Given the description of an element on the screen output the (x, y) to click on. 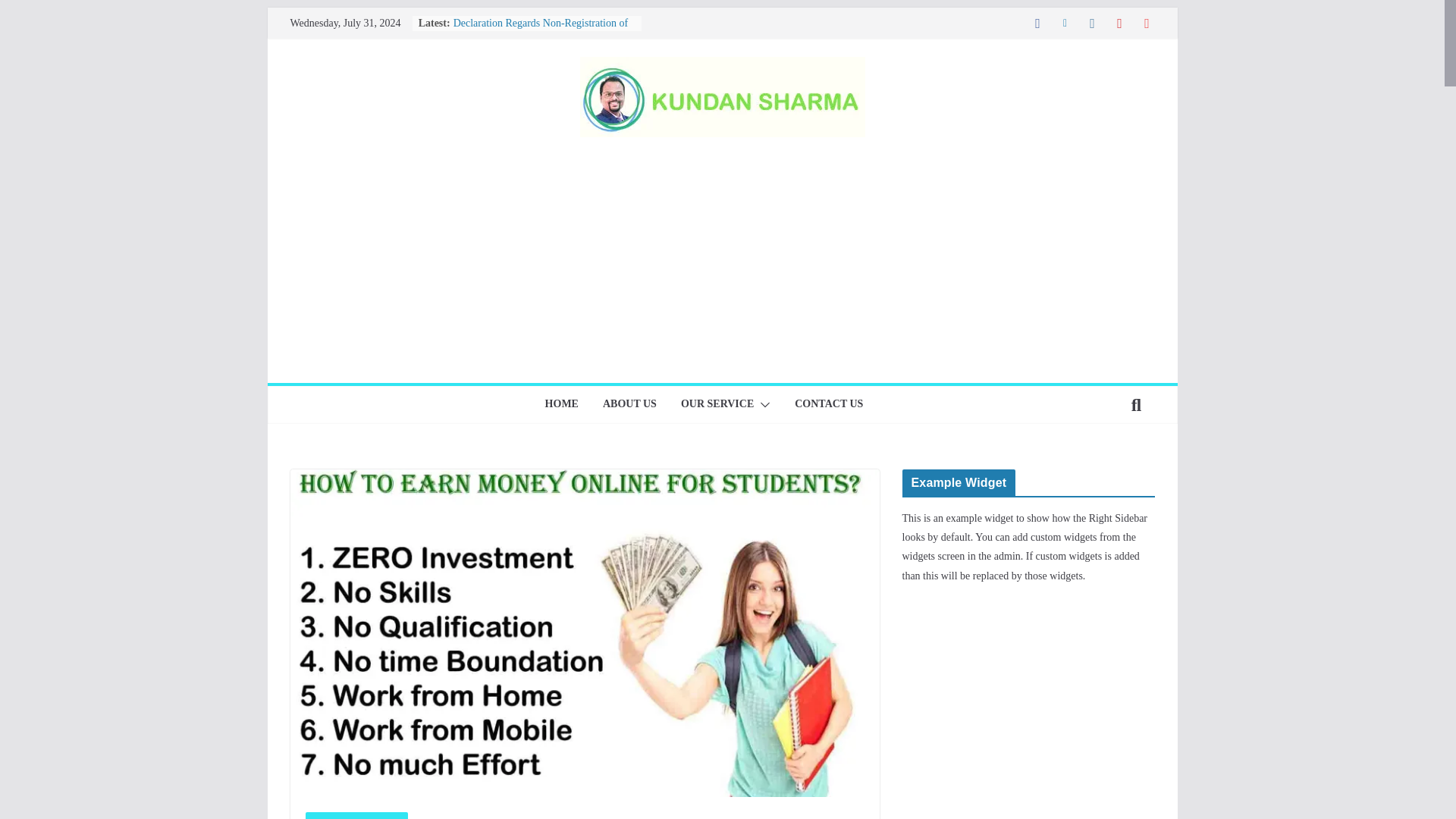
OUR SERVICE (717, 404)
HOME (561, 404)
CONTACT US (828, 404)
ABOUT US (629, 404)
MAKING MONEY ONLINE (355, 815)
